Given the description of an element on the screen output the (x, y) to click on. 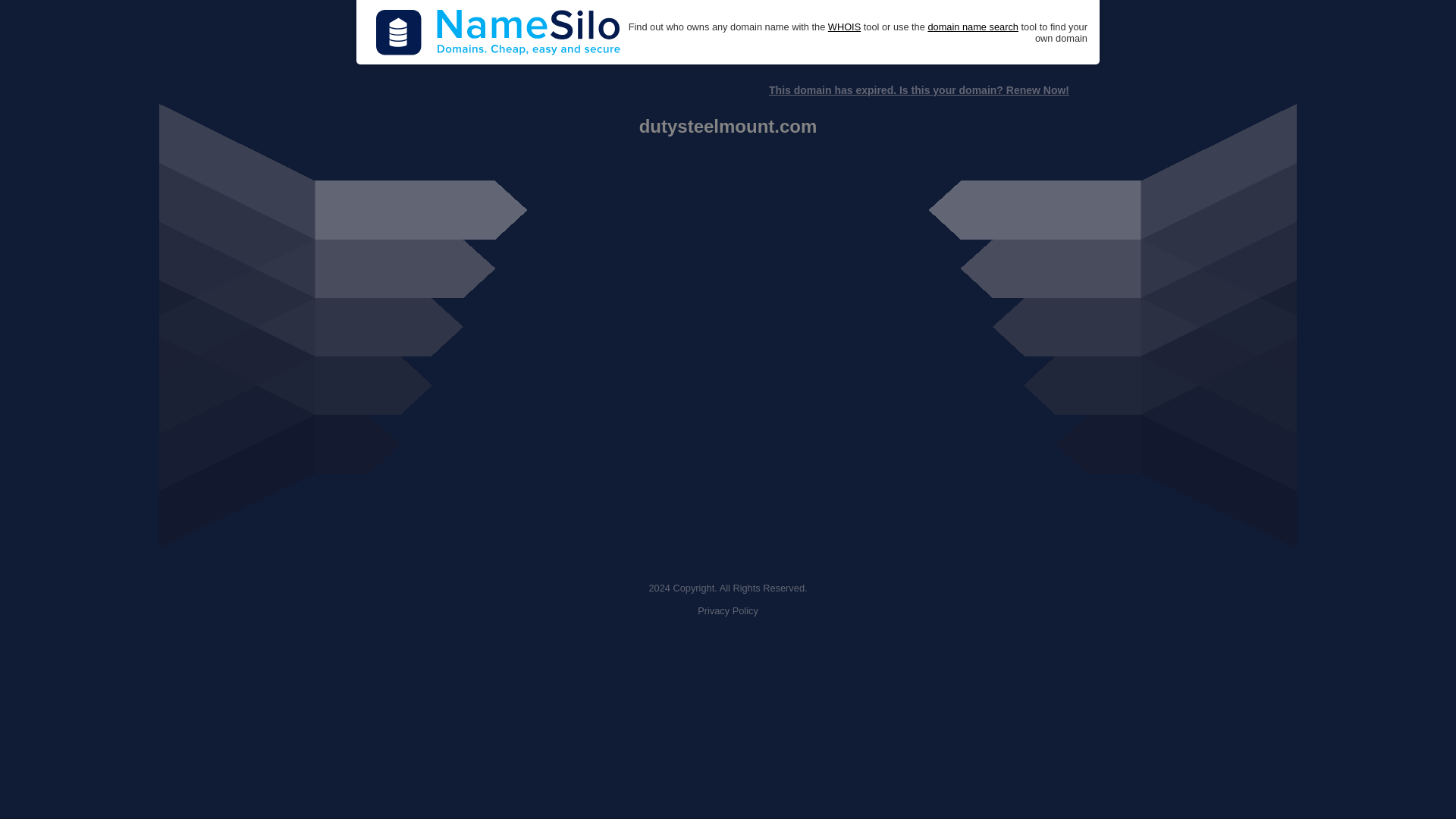
This domain has expired. Is this your domain? Renew Now! (918, 90)
domain name search (972, 26)
Privacy Policy (727, 610)
WHOIS (844, 26)
